Given the description of an element on the screen output the (x, y) to click on. 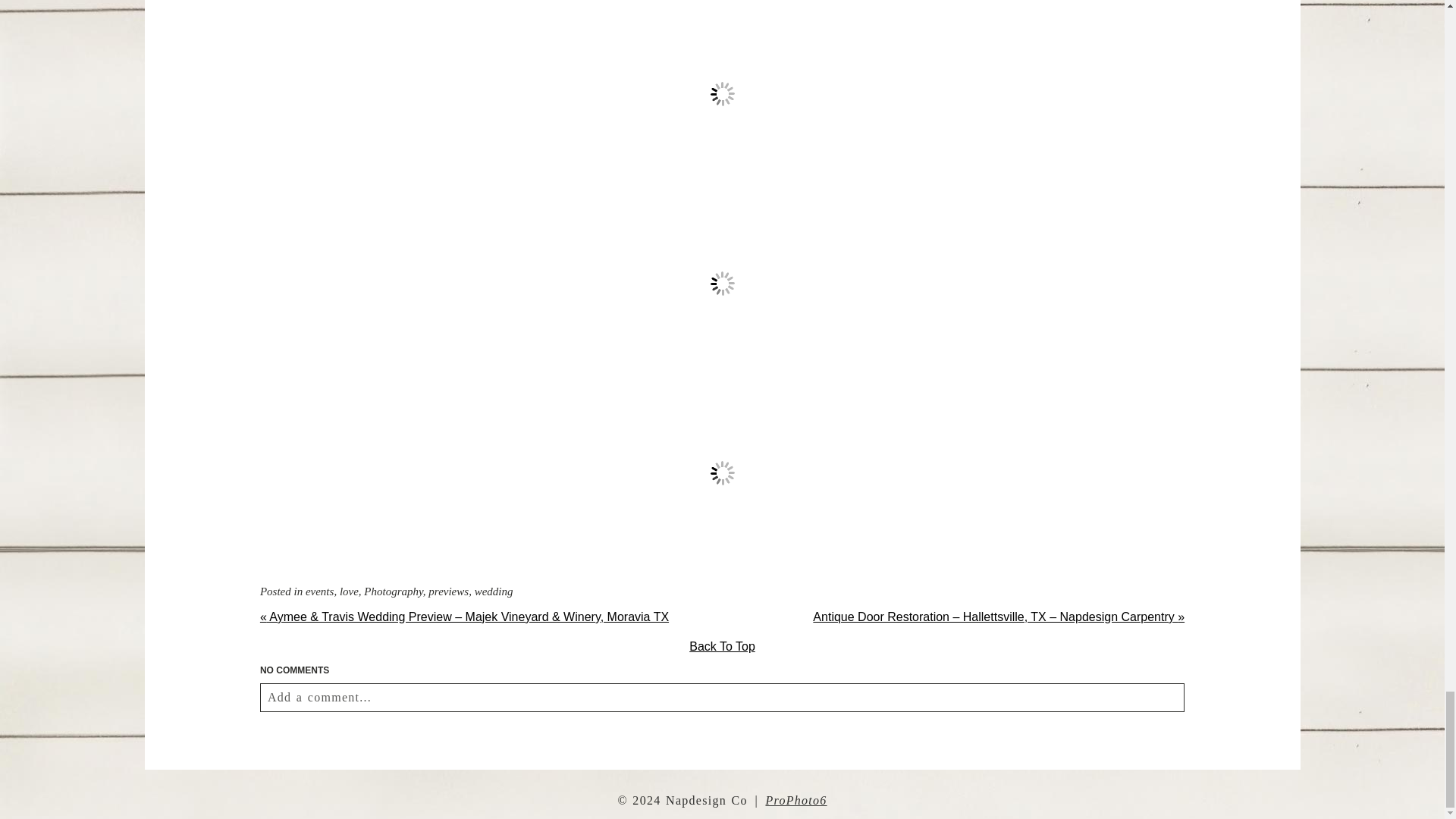
ProPhoto Photography Blog (796, 799)
